Given the description of an element on the screen output the (x, y) to click on. 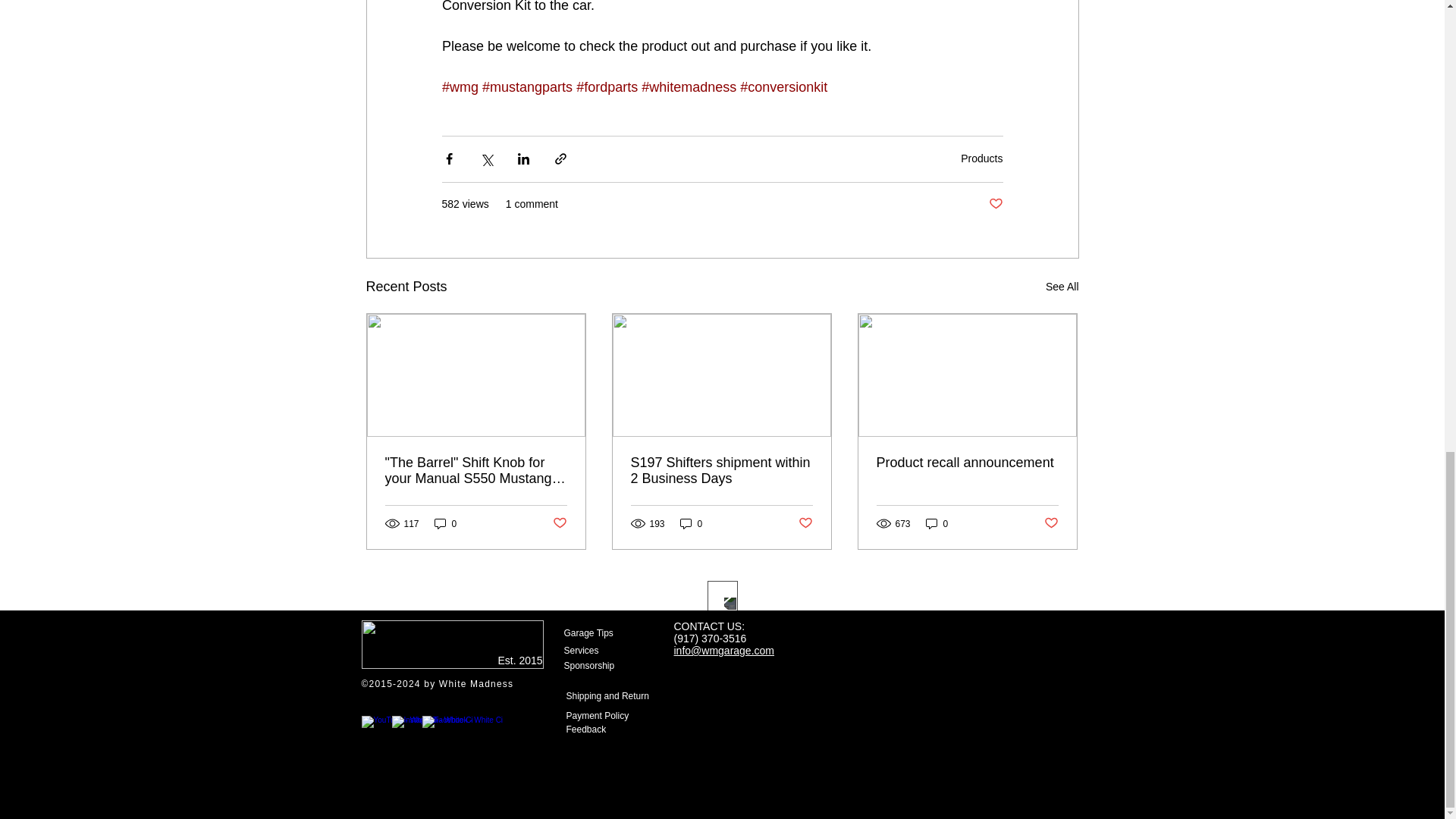
Post not marked as liked (558, 523)
Products (981, 158)
See All (1061, 287)
0 (445, 523)
Post not marked as liked (995, 204)
